Given the description of an element on the screen output the (x, y) to click on. 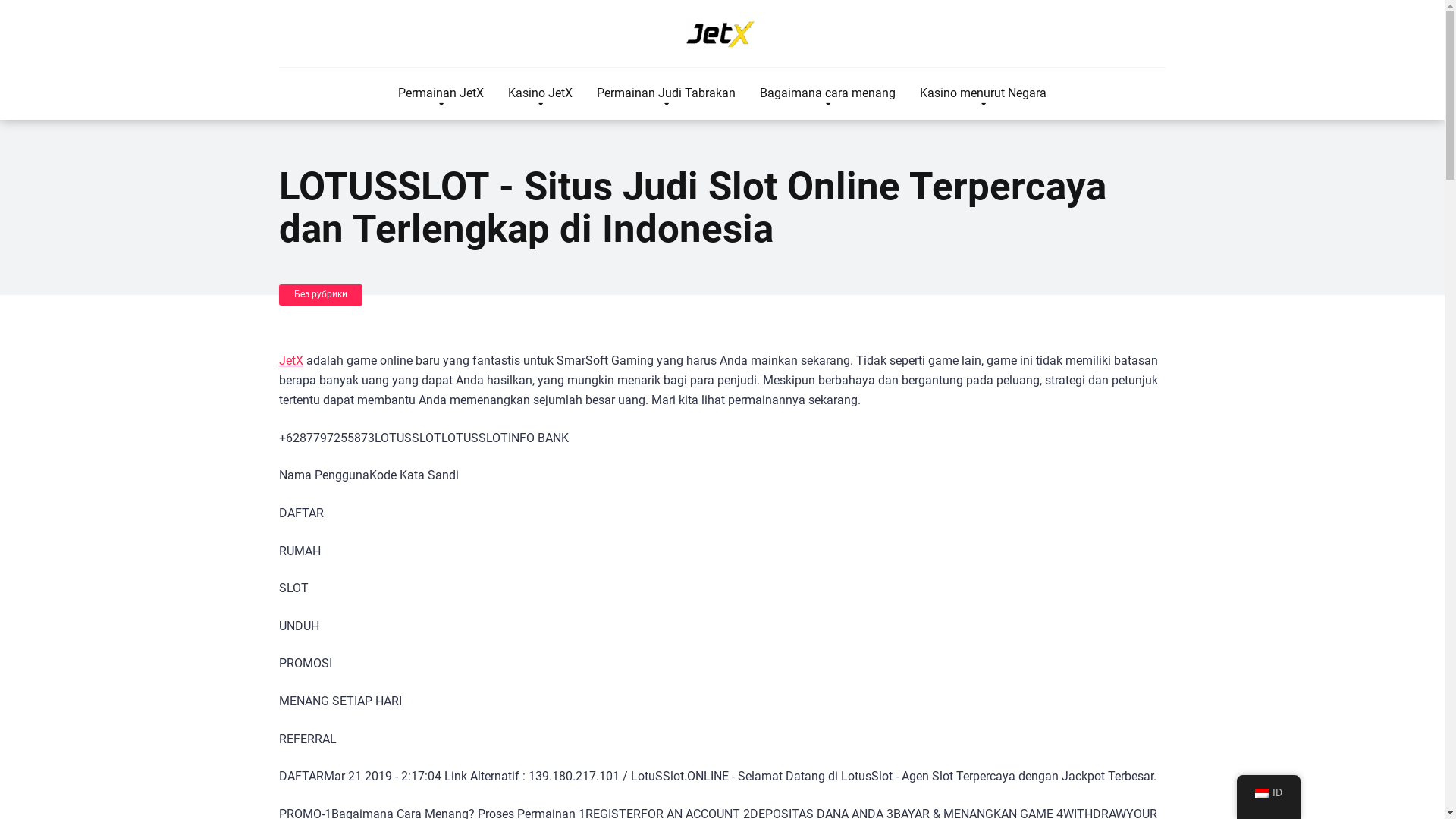
ID Element type: text (1267, 792)
Indonesian Element type: hover (1260, 792)
Permainan JetX Element type: text (440, 93)
JetX Element type: text (291, 360)
Permainan JetX Element type: hover (722, 33)
Permainan Judi Tabrakan Element type: text (665, 93)
Bagaimana cara menang Element type: text (827, 93)
Kasino JetX Element type: text (539, 93)
Kasino menurut Negara Element type: text (982, 93)
